Given the description of an element on the screen output the (x, y) to click on. 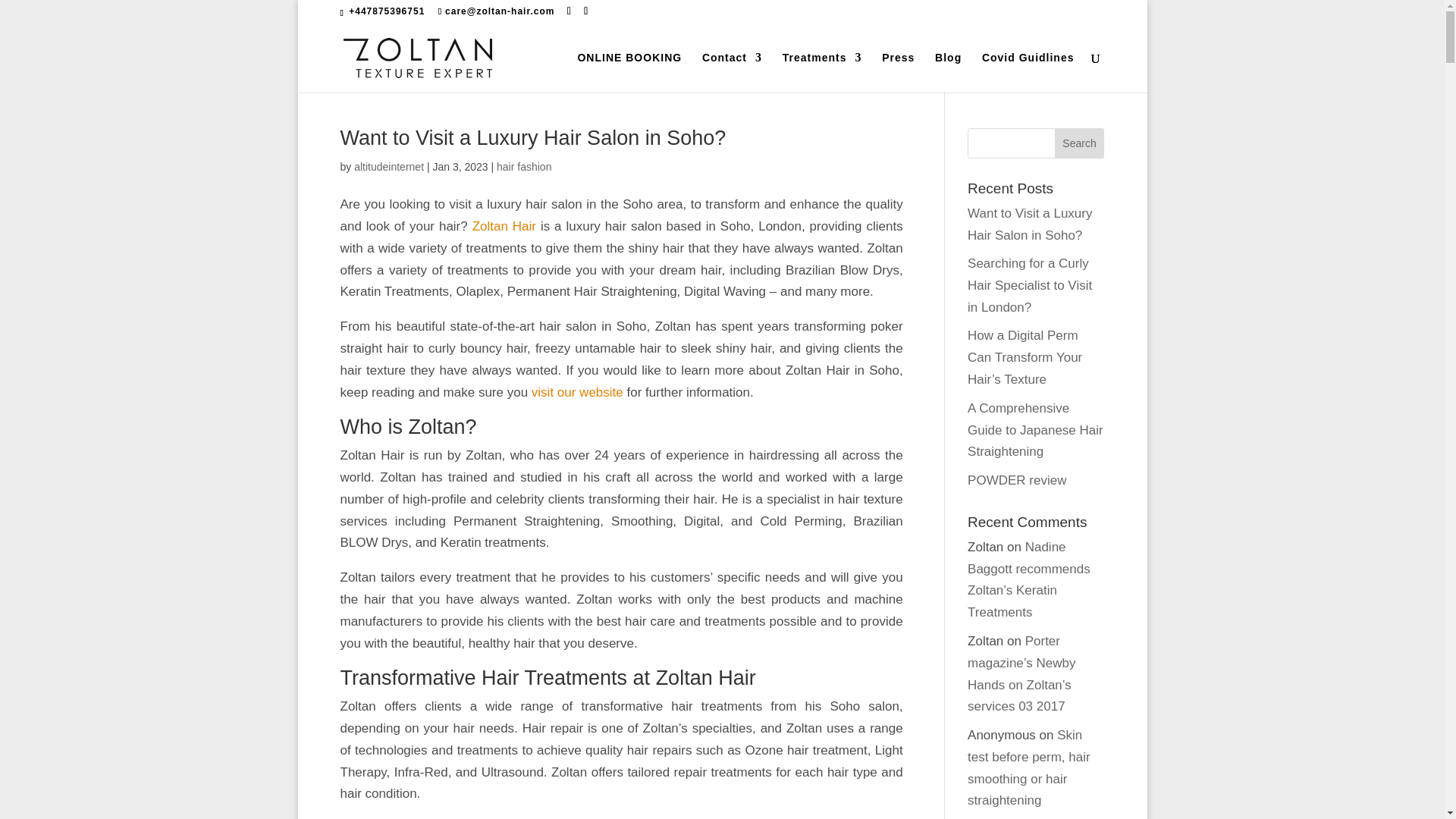
Want to Visit a Luxury Hair Salon in Soho? (532, 137)
altitudeinternet (388, 166)
Posts by altitudeinternet (388, 166)
ONLINE BOOKING (628, 72)
Contact (731, 72)
Search (1079, 142)
visit our website (577, 391)
Zoltan Hair (503, 226)
Treatments (822, 72)
hair fashion (523, 166)
